Given the description of an element on the screen output the (x, y) to click on. 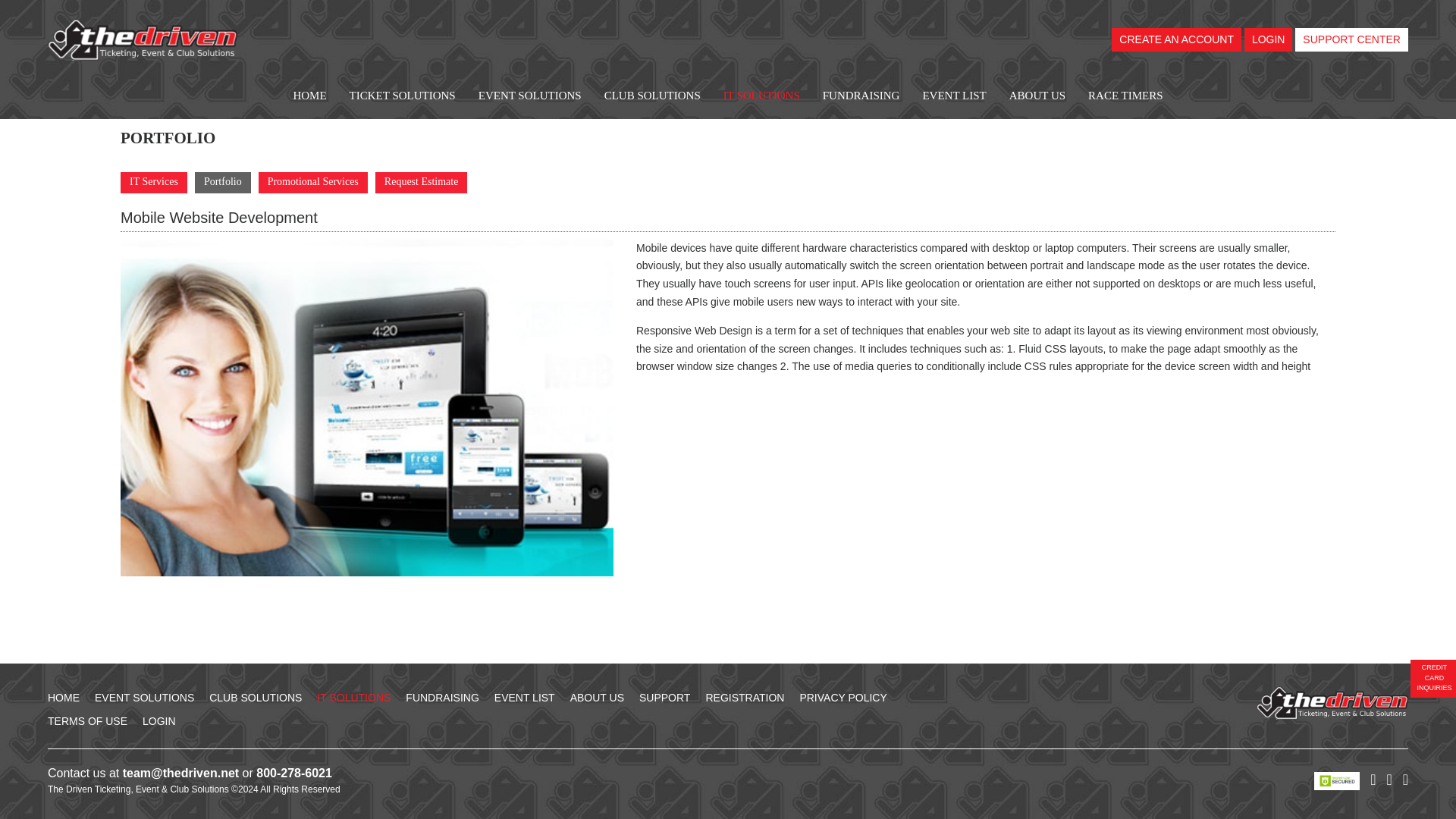
LOGIN (1268, 39)
IT SOLUTIONS (760, 95)
ABOUT US (1037, 95)
IT Services (153, 182)
The Driven Race and Club Solutions (142, 39)
RACE TIMERS (1125, 95)
EVENT SOLUTIONS (529, 95)
CREATE AN ACCOUNT (1176, 39)
TICKET SOLUTIONS (402, 95)
HOME (309, 95)
SUPPORT CENTER (1351, 39)
CLUB SOLUTIONS (651, 95)
EVENT LIST (954, 95)
FUNDRAISING (860, 95)
